Given the description of an element on the screen output the (x, y) to click on. 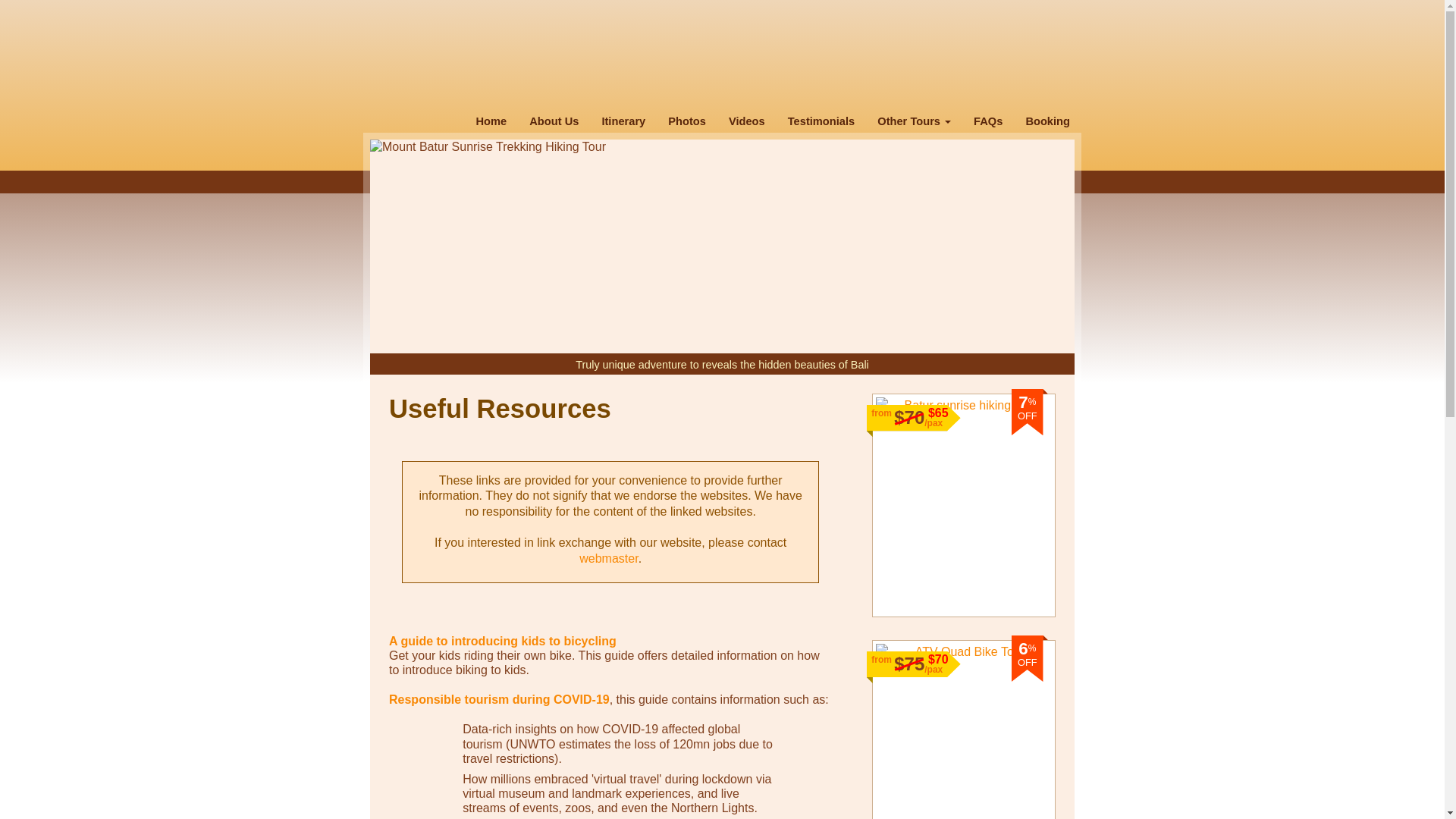
Booking (1047, 120)
webmaster (608, 558)
Home (491, 120)
Other Tours (914, 120)
Company profile (553, 120)
FAQs (987, 120)
Cycling Tour Itineraries (622, 120)
Photos Collection (686, 120)
Videos Collection (746, 120)
Videos (746, 120)
Photos (686, 120)
Responsible tourism during COVID-19 (499, 698)
A guide to introducing kids to bicycling (501, 640)
Itinerary (622, 120)
Client's Feedbacks and Reviews (821, 120)
